Given the description of an element on the screen output the (x, y) to click on. 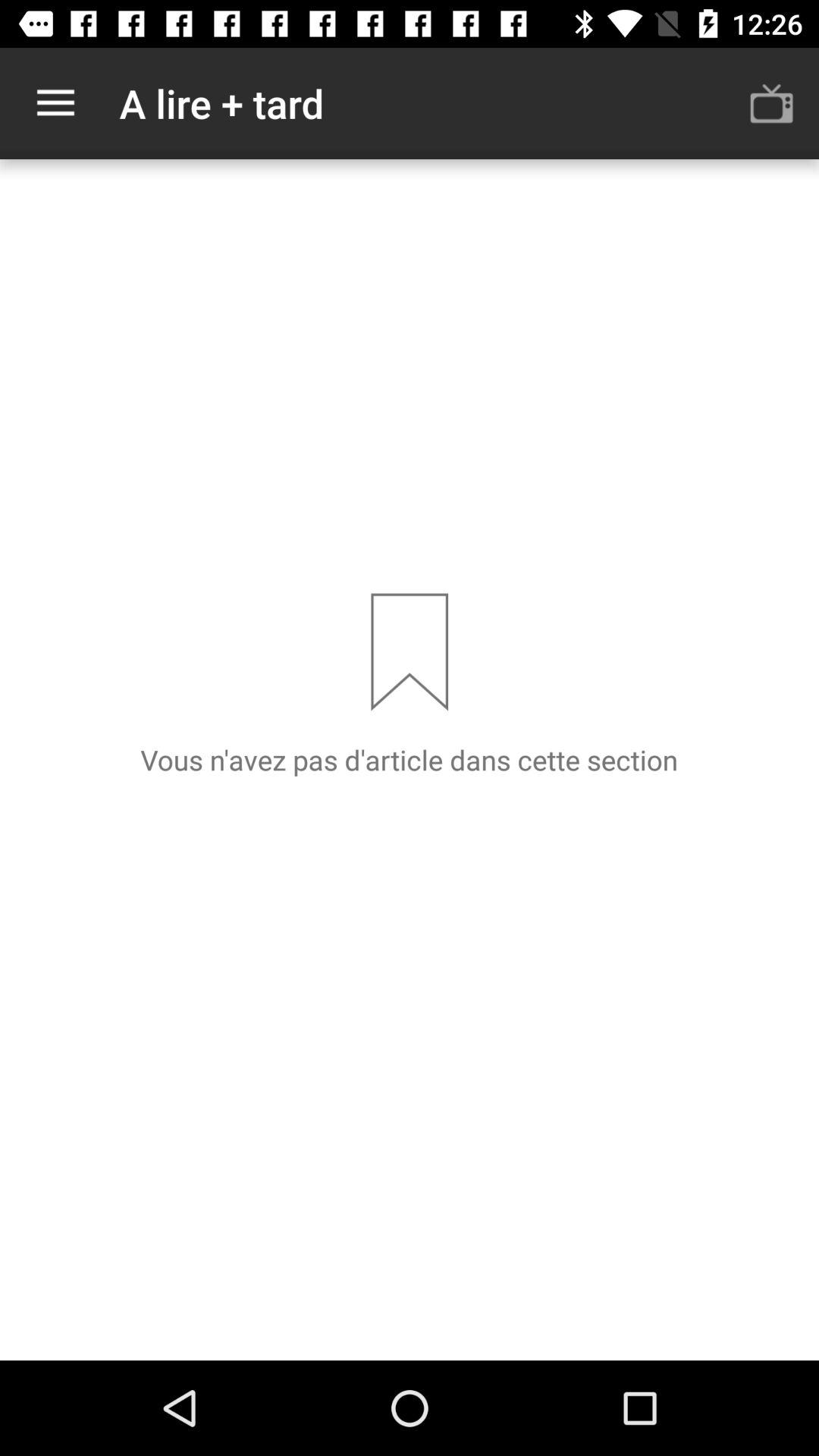
launch the icon to the right of a lire + tard icon (771, 103)
